Given the description of an element on the screen output the (x, y) to click on. 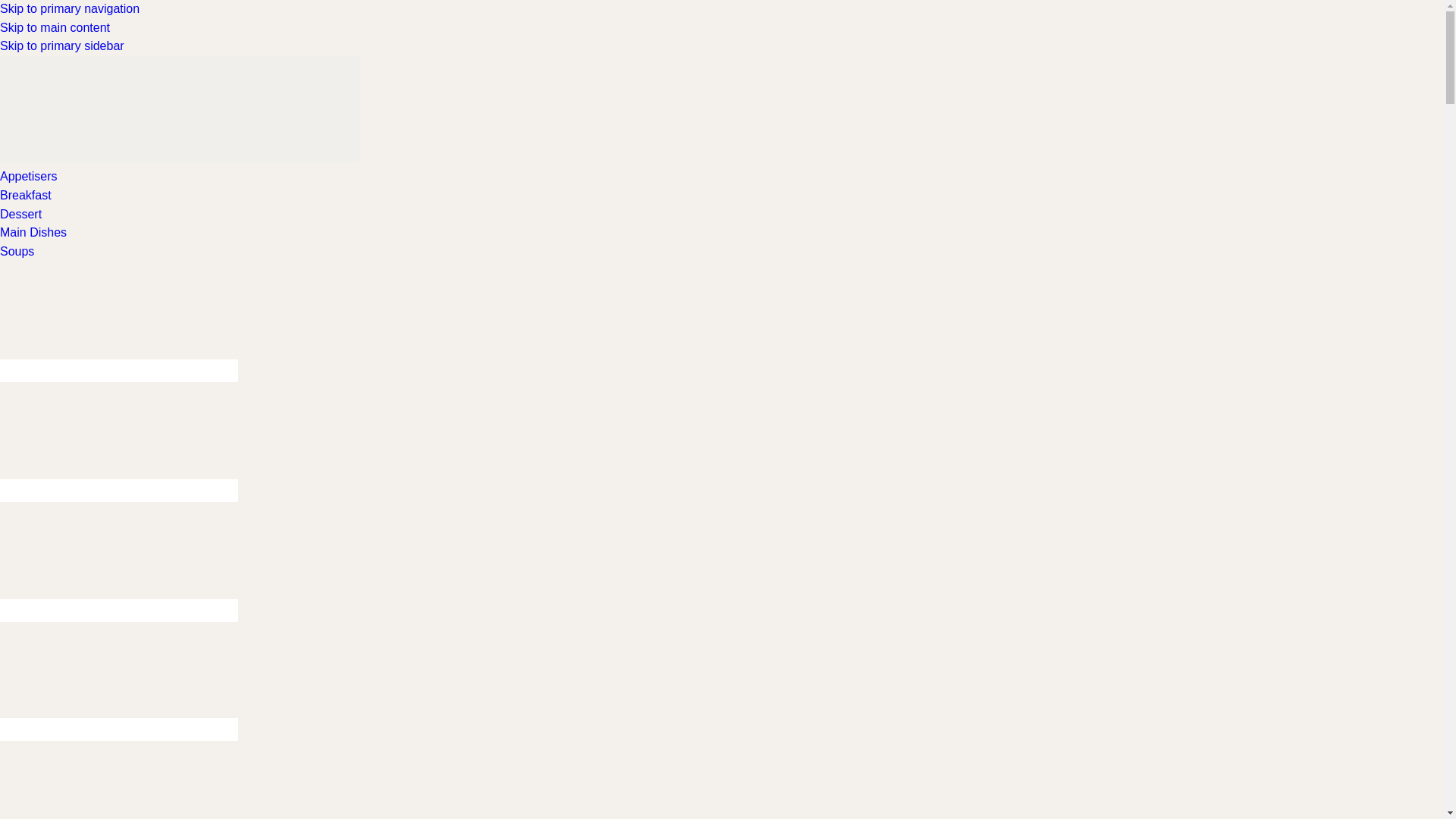
Facebook (119, 370)
Snapchat (118, 779)
Facebook (118, 317)
RSS (118, 676)
Soups (16, 250)
Skip to primary sidebar (61, 45)
RSS (119, 729)
Just Simple Recipes (179, 109)
Instagram (119, 490)
Just Simple Recipes (179, 157)
